Given the description of an element on the screen output the (x, y) to click on. 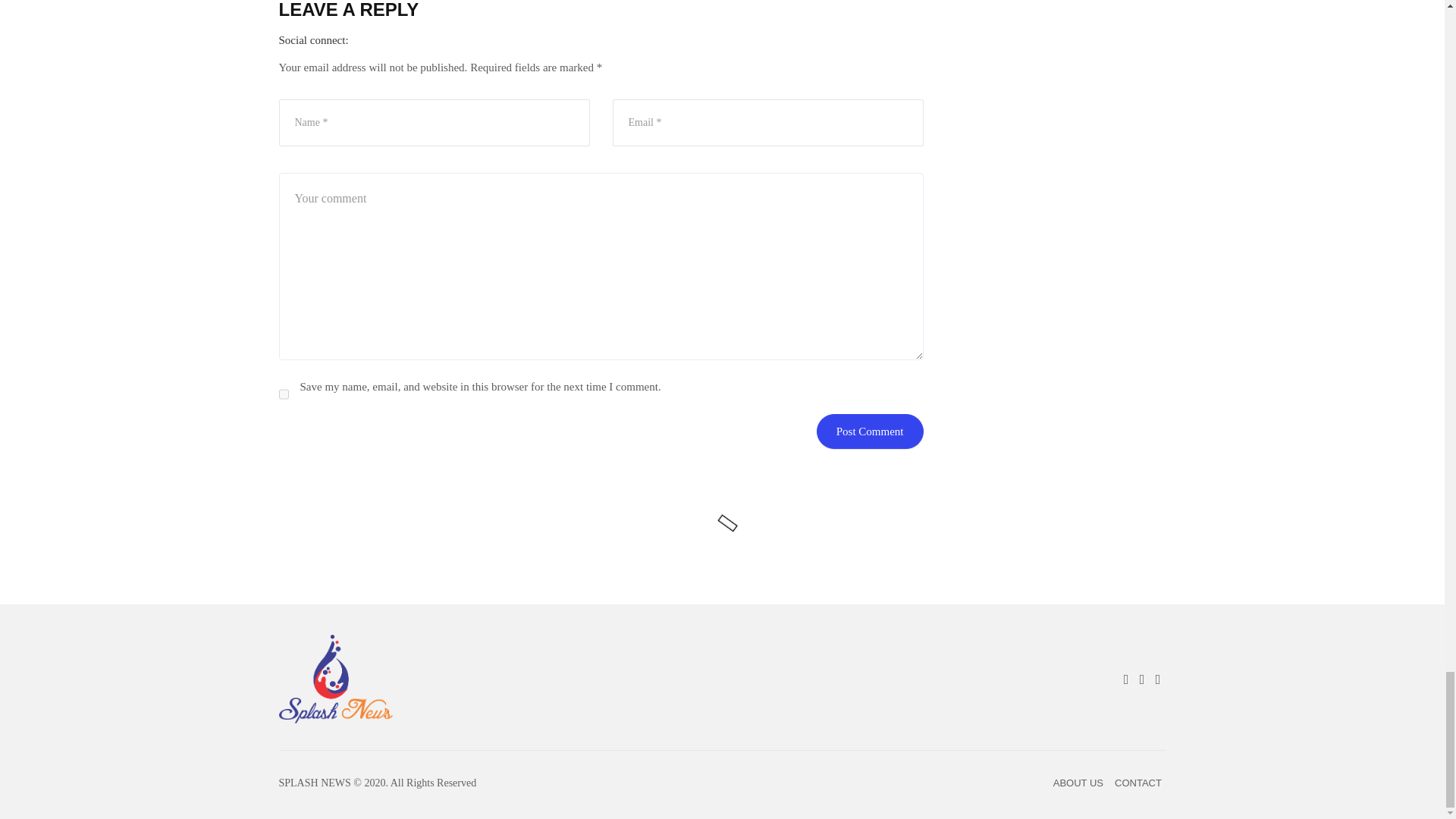
Post Comment (869, 431)
